Given the description of an element on the screen output the (x, y) to click on. 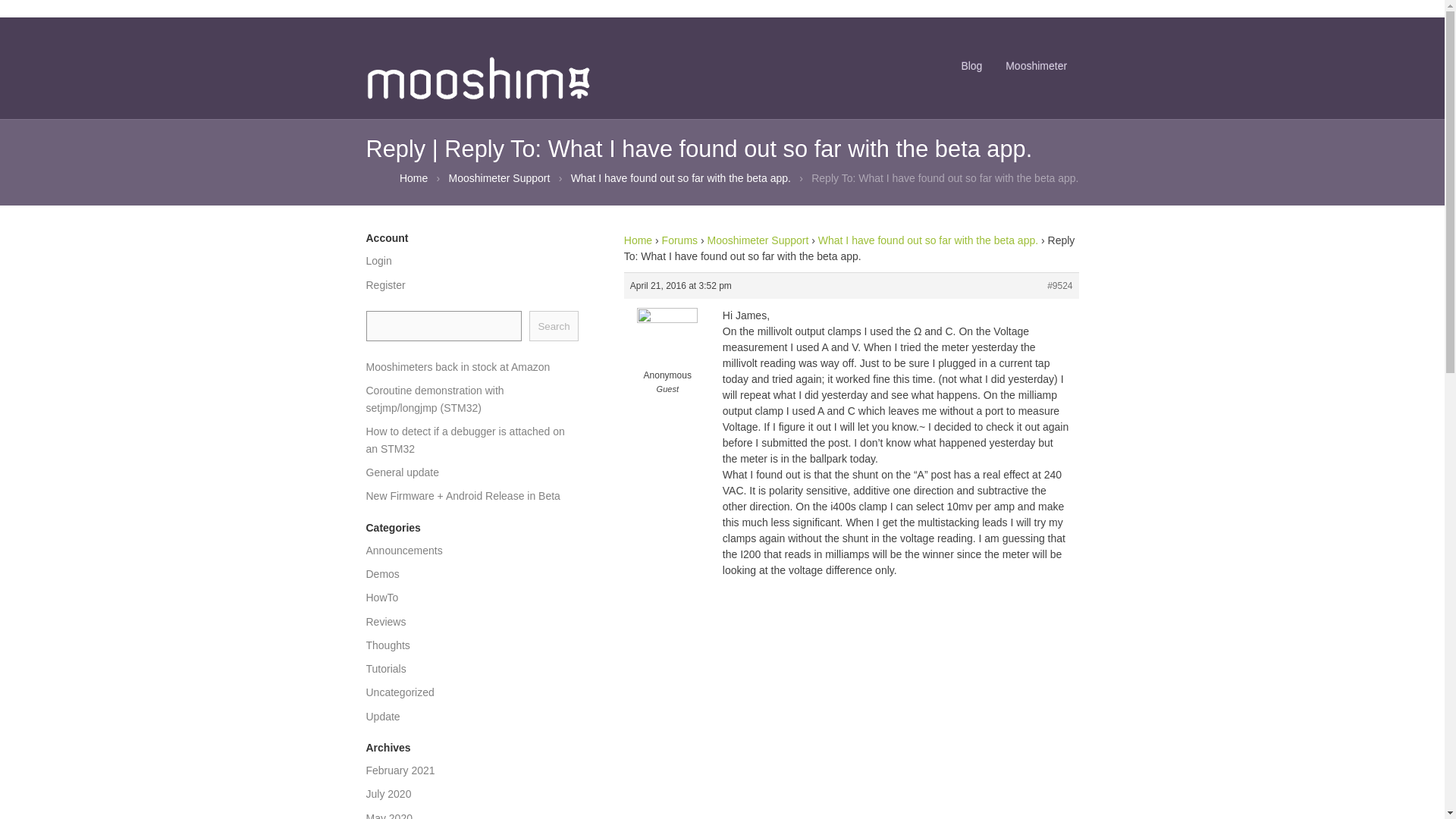
July 2020 (387, 793)
Update (381, 716)
Tutorials (385, 668)
Mooshimeter Support (499, 177)
What I have found out so far with the beta app. (680, 177)
Login (378, 260)
Mooshimeter Support (757, 240)
Home (638, 240)
Mooshim Engineering (413, 177)
Uncategorized (399, 692)
Register (384, 285)
February 2021 (399, 770)
Mooshimeter (1035, 66)
General update (402, 472)
Reviews (385, 621)
